Given the description of an element on the screen output the (x, y) to click on. 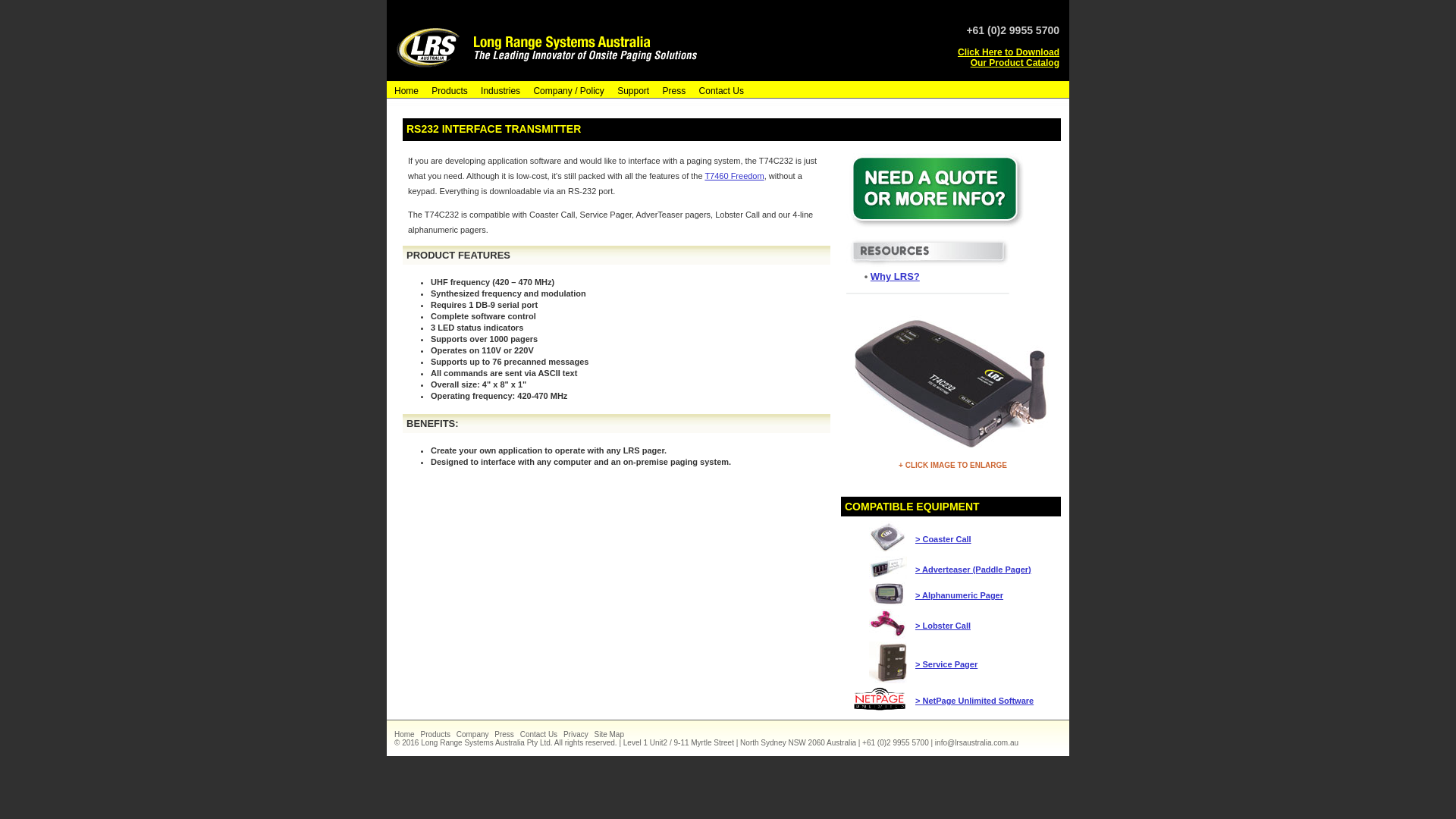
Privacy Element type: text (577, 733)
Contact Us Element type: text (718, 89)
Company Element type: text (474, 733)
Press Element type: text (505, 733)
Press Element type: text (672, 89)
Products Element type: text (446, 89)
T7460 Freedom Element type: text (733, 175)
> Alphanumeric Pager Element type: text (959, 594)
Industries Element type: text (498, 89)
> Lobster Call Element type: text (942, 624)
Click Here to Download
Our Product Catalog Element type: text (1008, 57)
info@lrsaustralia.com.au Element type: text (978, 741)
Products Element type: text (436, 733)
Site Map Element type: text (610, 733)
> Coaster Call Element type: text (943, 537)
Support Element type: text (630, 89)
Company / Policy Element type: text (565, 89)
Contact Us Element type: text (540, 733)
> Service Pager Element type: text (946, 663)
Why LRS? Element type: text (894, 276)
> Adverteaser (Paddle Pager) Element type: text (973, 568)
Home Element type: text (403, 89)
> NetPage Unlimited Software Element type: text (974, 700)
Home Element type: text (406, 733)
